Given the description of an element on the screen output the (x, y) to click on. 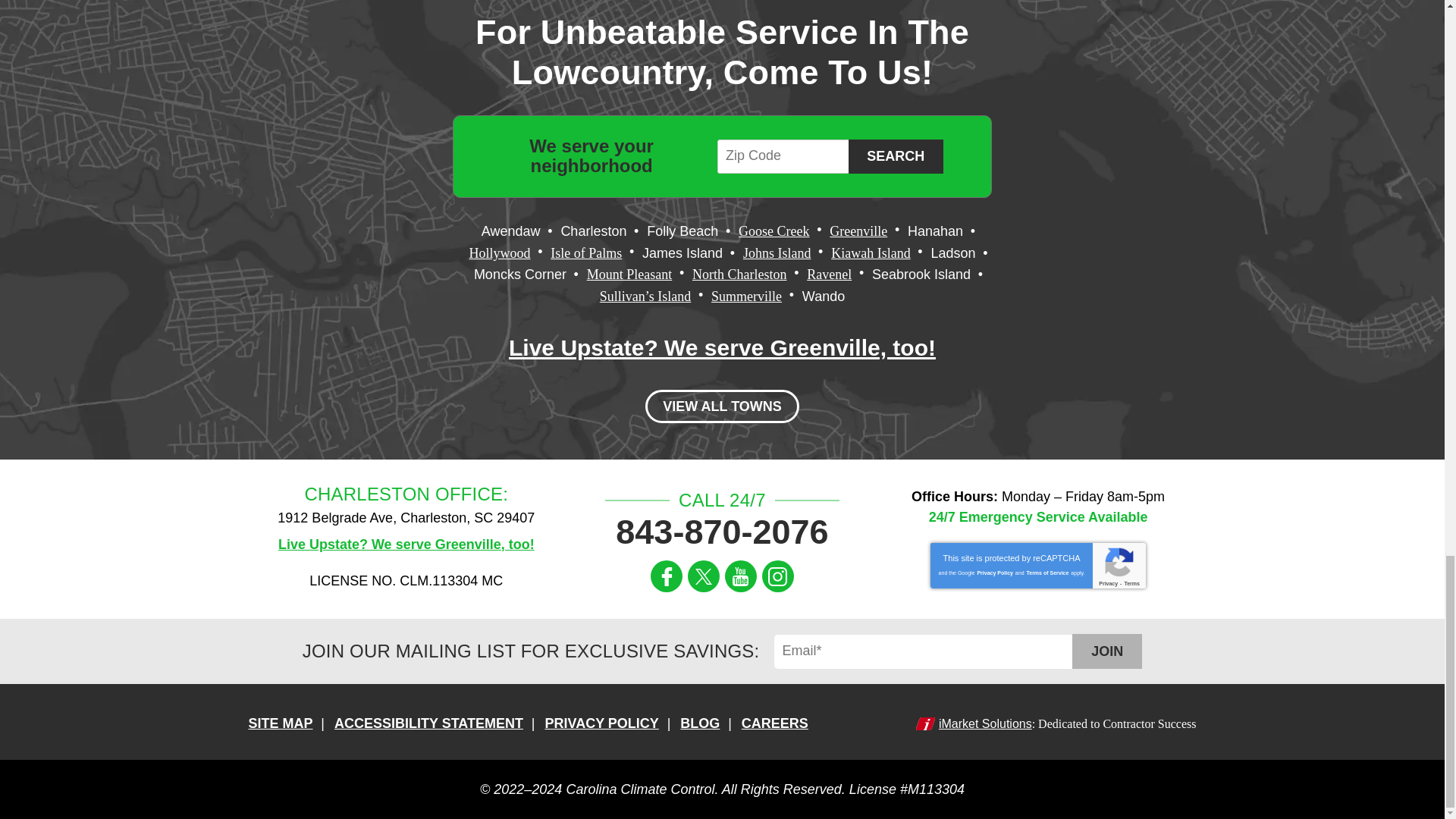
Search (895, 156)
